Given the description of an element on the screen output the (x, y) to click on. 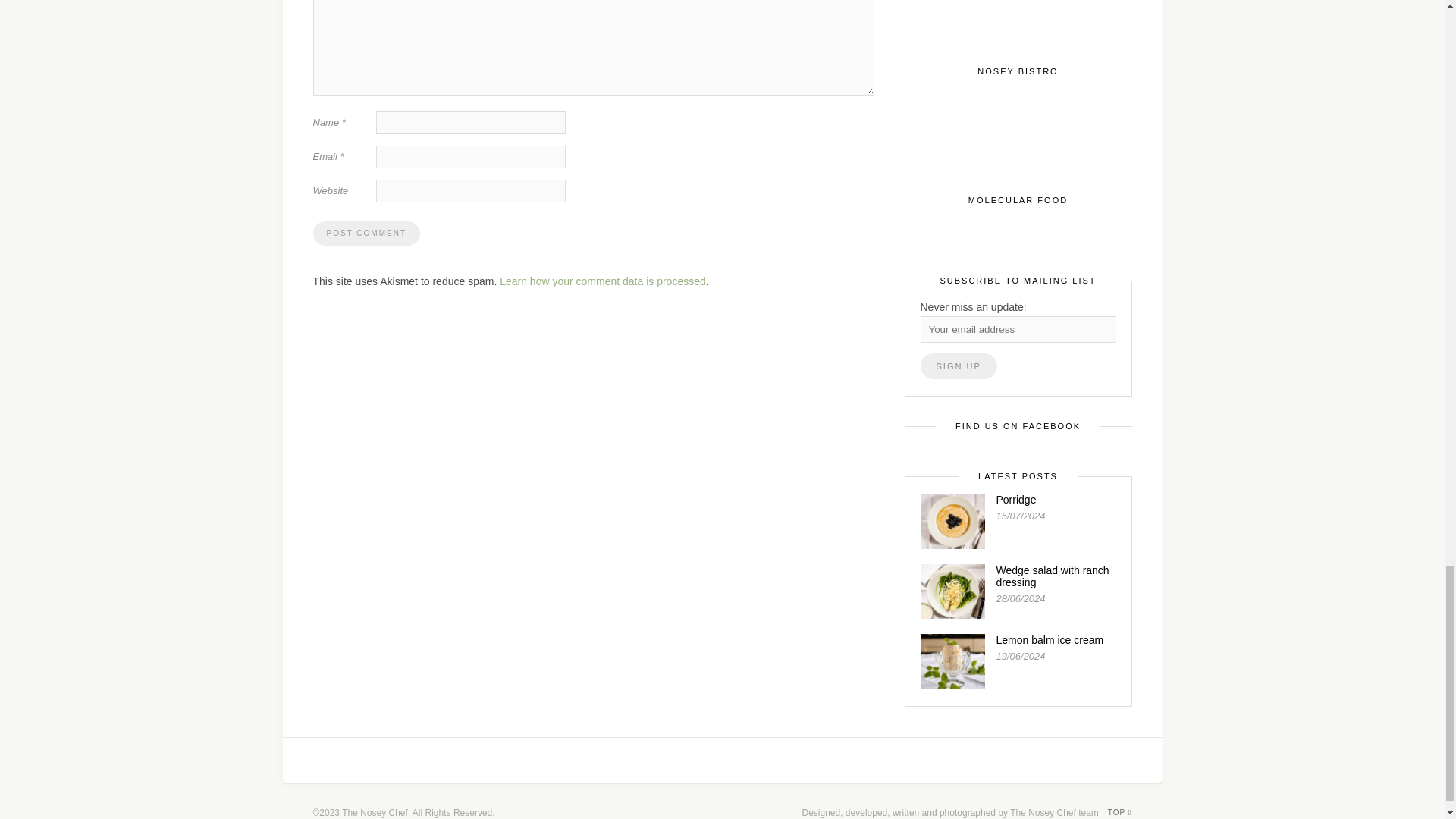
Sign up (958, 365)
Post Comment (366, 233)
